Given the description of an element on the screen output the (x, y) to click on. 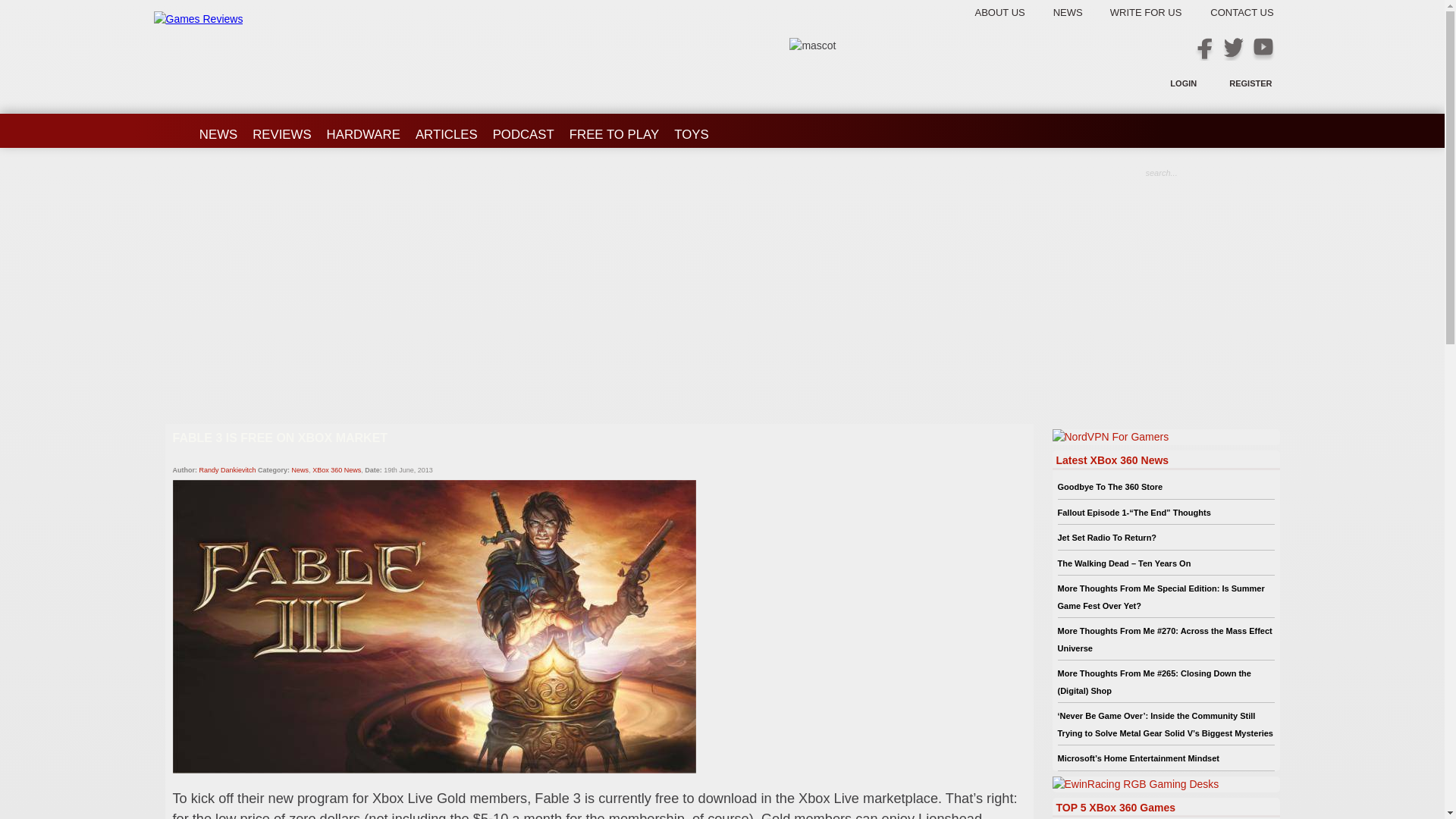
Follow Us On Youtube (1262, 48)
ARTICLES (445, 128)
Posts by Randy Dankievitch (227, 470)
Games Reviews (197, 19)
ABOUT US (1010, 12)
HARDWARE (362, 128)
NEWS (1079, 12)
PODCAST (523, 128)
Fable 3 is free on Xbox Market (599, 450)
NEWS (218, 128)
